Given the description of an element on the screen output the (x, y) to click on. 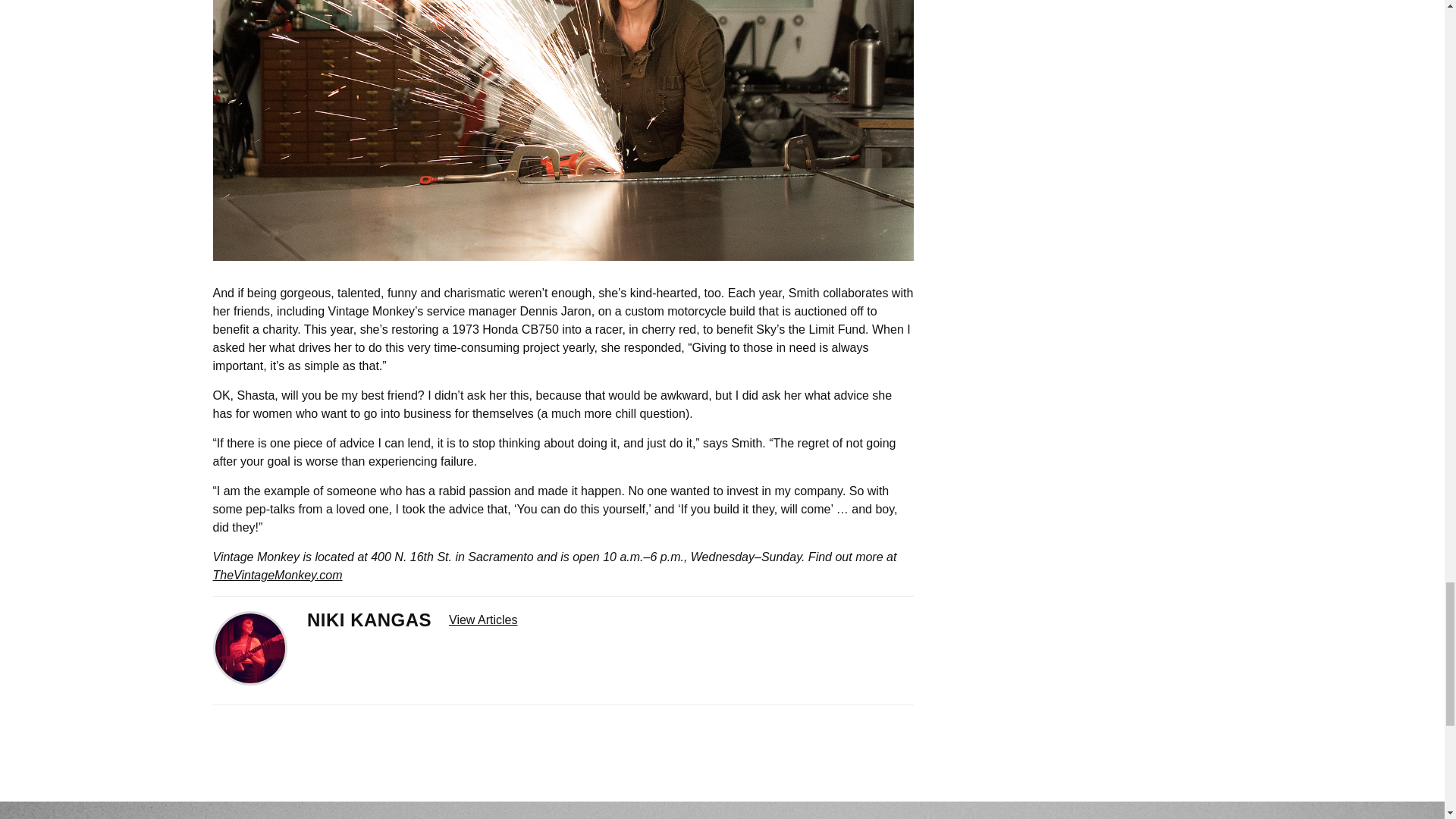
TheVintageMonkey.com (277, 574)
View Articles (482, 619)
